Given the description of an element on the screen output the (x, y) to click on. 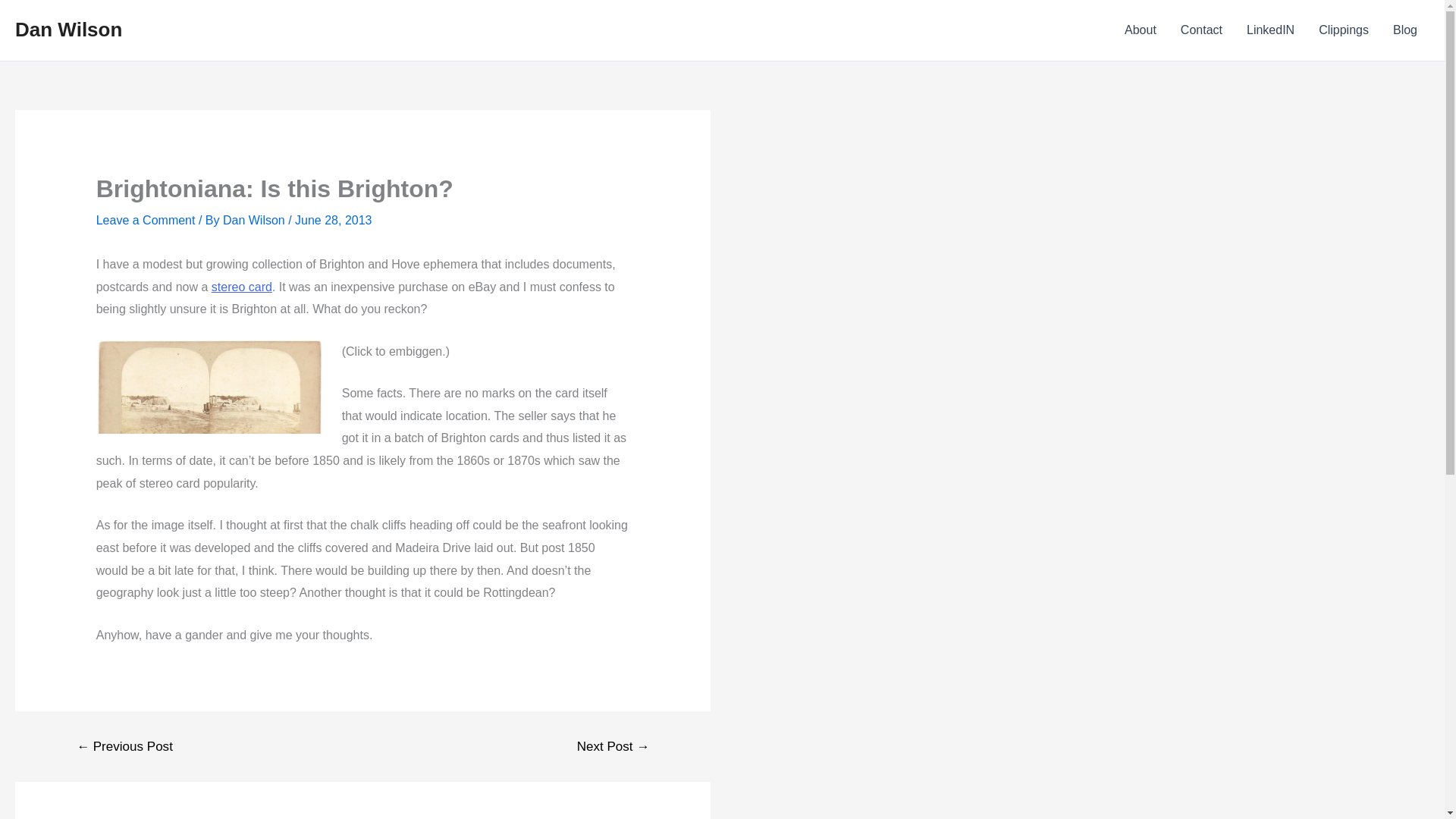
Dan Wilson (68, 29)
LinkedIN (1270, 30)
Clippings (1343, 30)
Contact (1201, 30)
stereo card (241, 286)
About (1140, 30)
View all posts by Dan Wilson (255, 219)
Leave a Comment (145, 219)
Dan Wilson (255, 219)
